Given the description of an element on the screen output the (x, y) to click on. 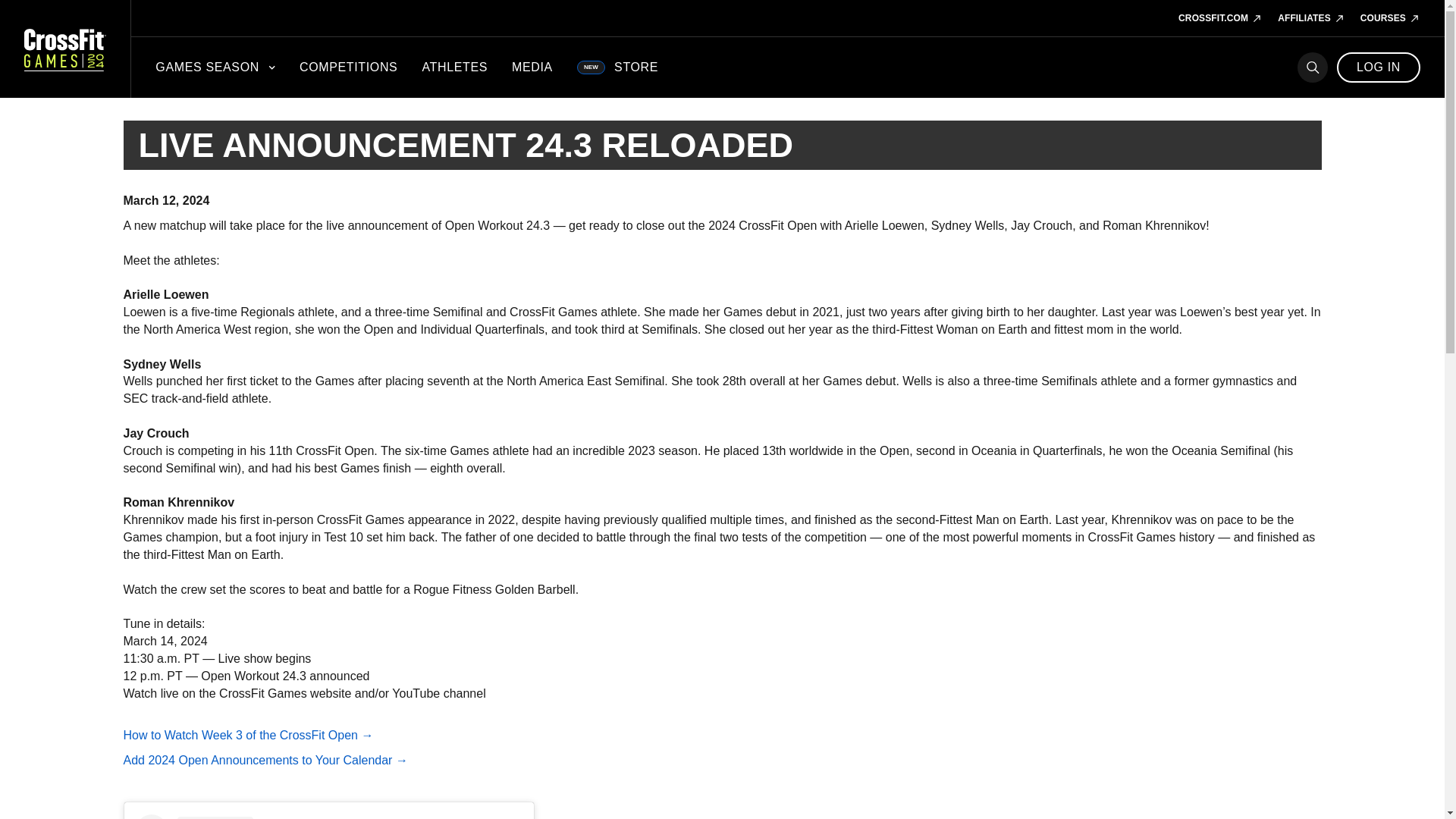
CrossFit Games (65, 49)
GAMES SEASON (215, 66)
CROSSFIT.COM (1219, 18)
AFFILIATES (1311, 18)
COURSES (1390, 18)
CrossFit Games Home (65, 49)
